Given the description of an element on the screen output the (x, y) to click on. 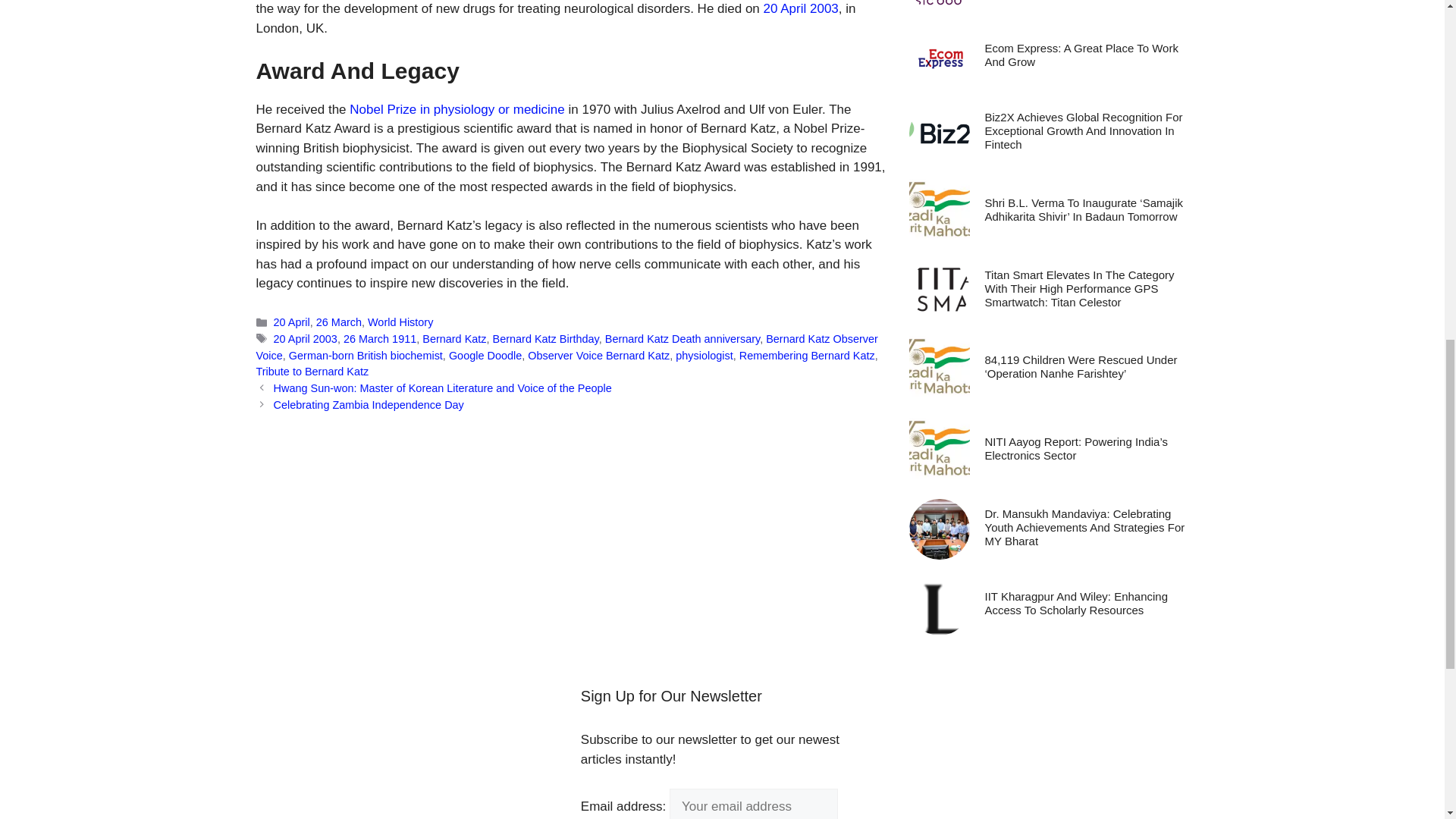
Scroll back to top (1406, 720)
